Given the description of an element on the screen output the (x, y) to click on. 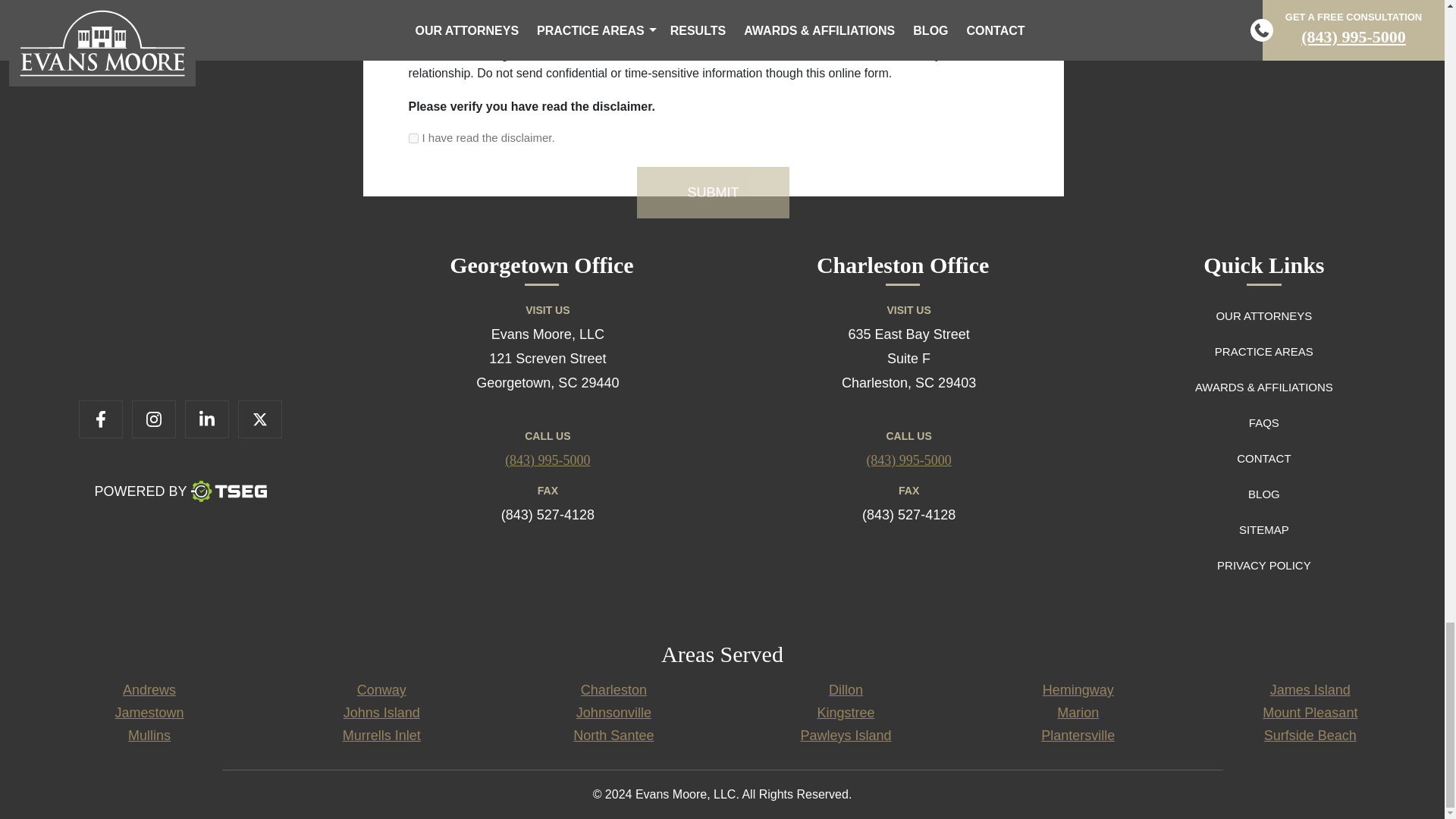
Submit (713, 192)
agreed (412, 138)
